Given the description of an element on the screen output the (x, y) to click on. 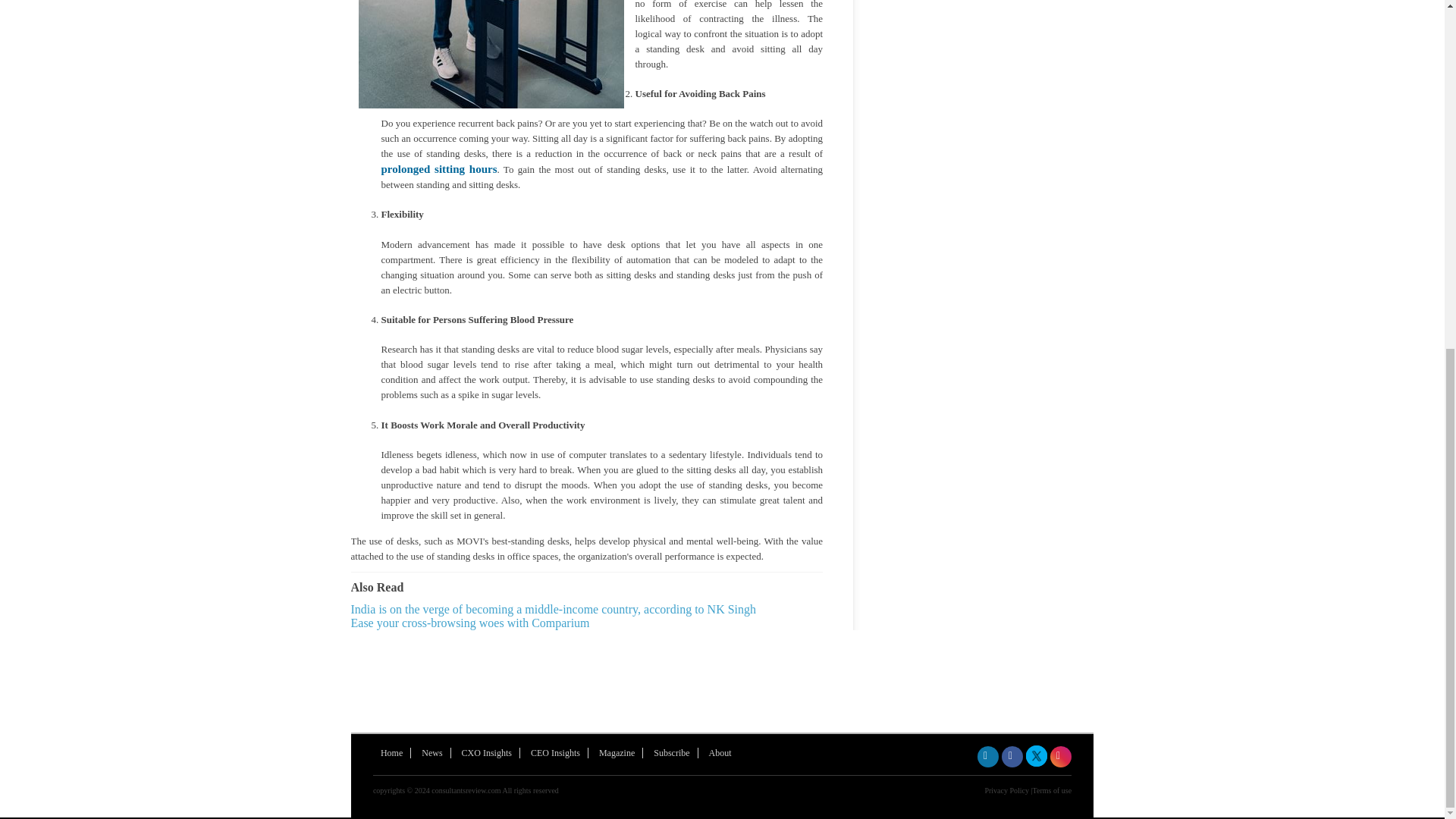
Revealed 5 Benefits of Standing Desk 2020! (490, 54)
